Given the description of an element on the screen output the (x, y) to click on. 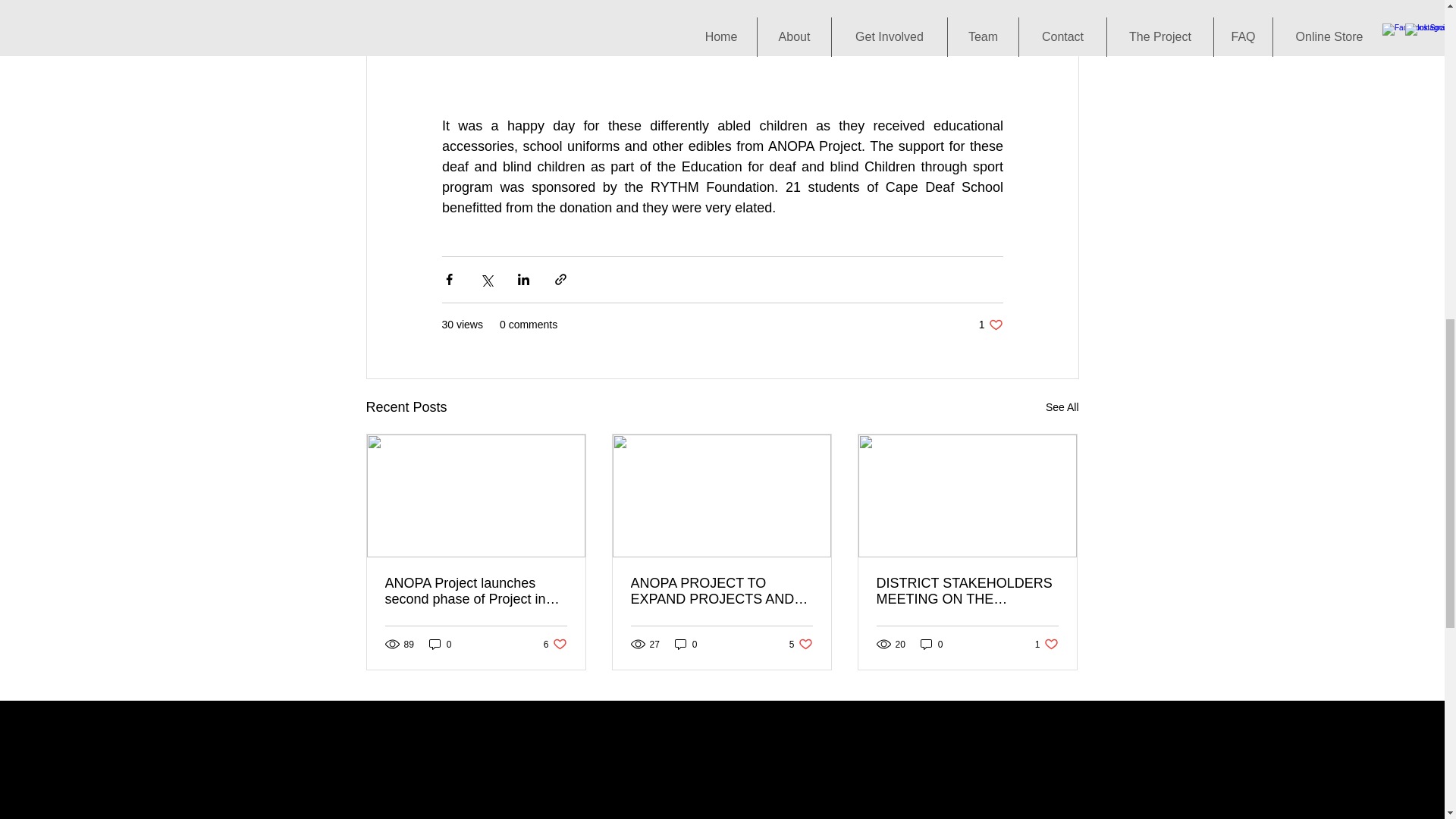
See All (800, 644)
0 (555, 644)
0 (1046, 644)
0 (1061, 407)
